Given the description of an element on the screen output the (x, y) to click on. 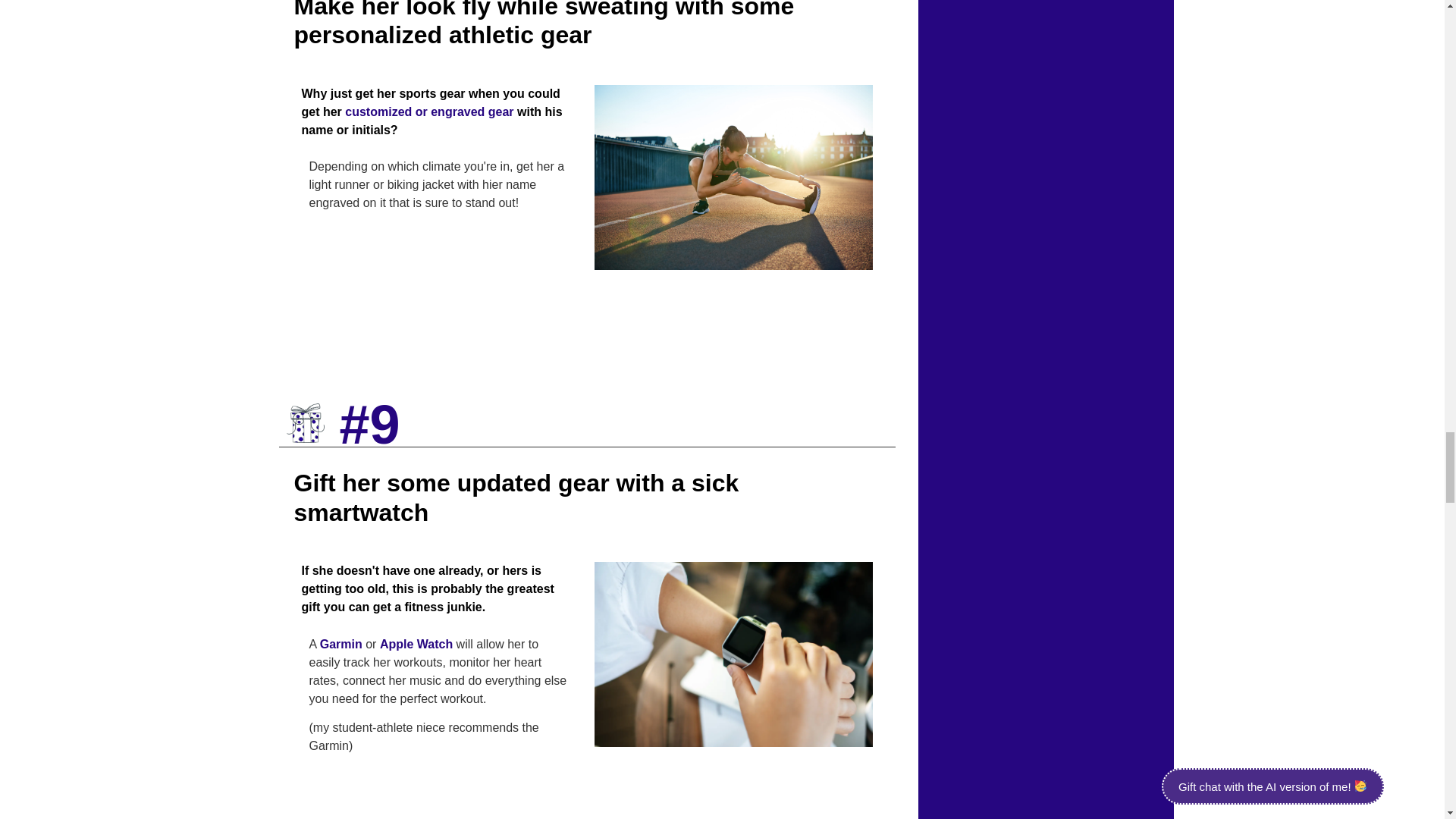
Garmin (341, 644)
Apple Watch (416, 644)
customized or engraved gear (429, 111)
